Given the description of an element on the screen output the (x, y) to click on. 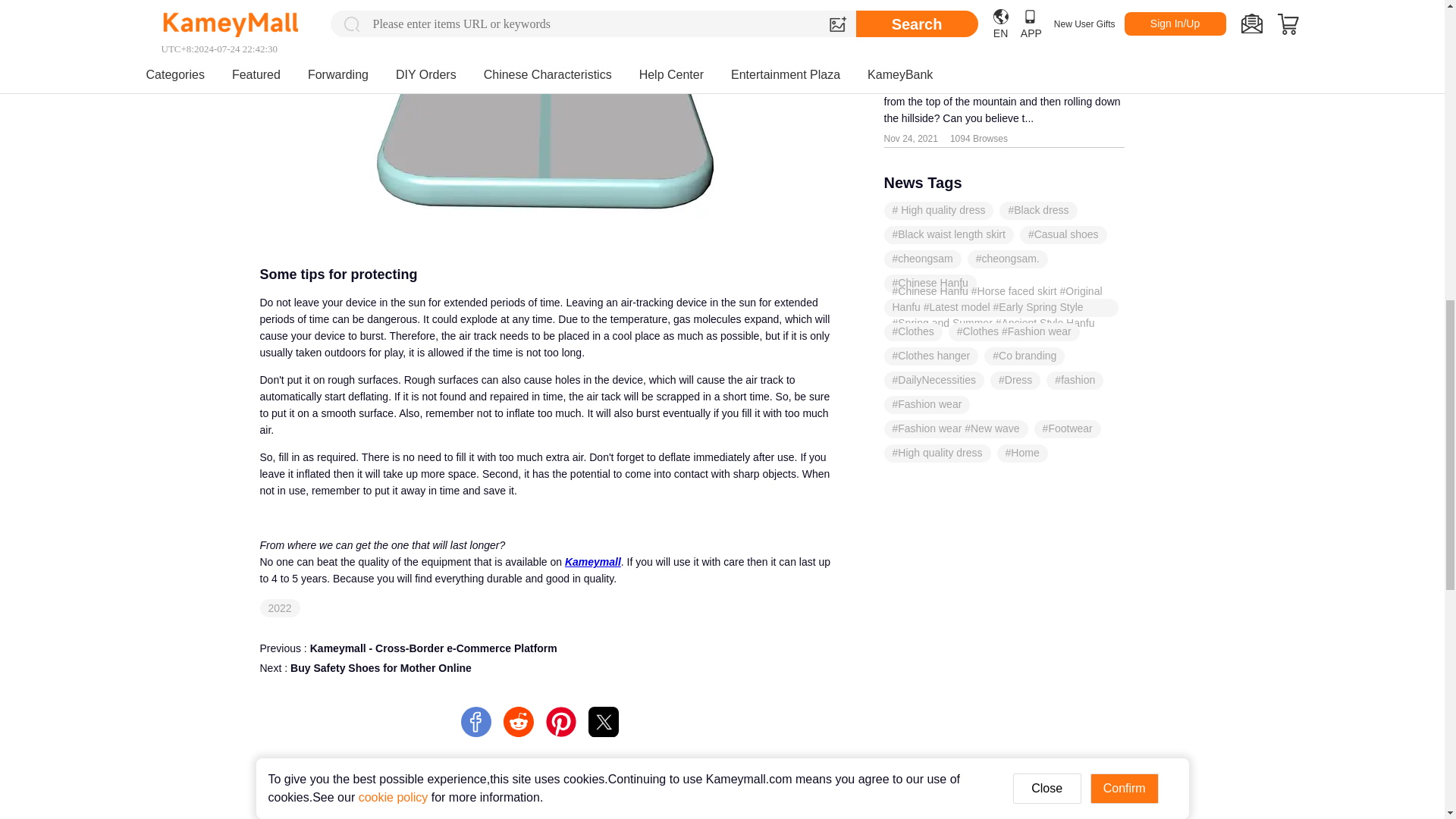
Kameymall (592, 562)
2022 (279, 608)
Created with Pixso. (545, 683)
Riding A Zorb Ball? How Can We Play It? (603, 721)
